Given the description of an element on the screen output the (x, y) to click on. 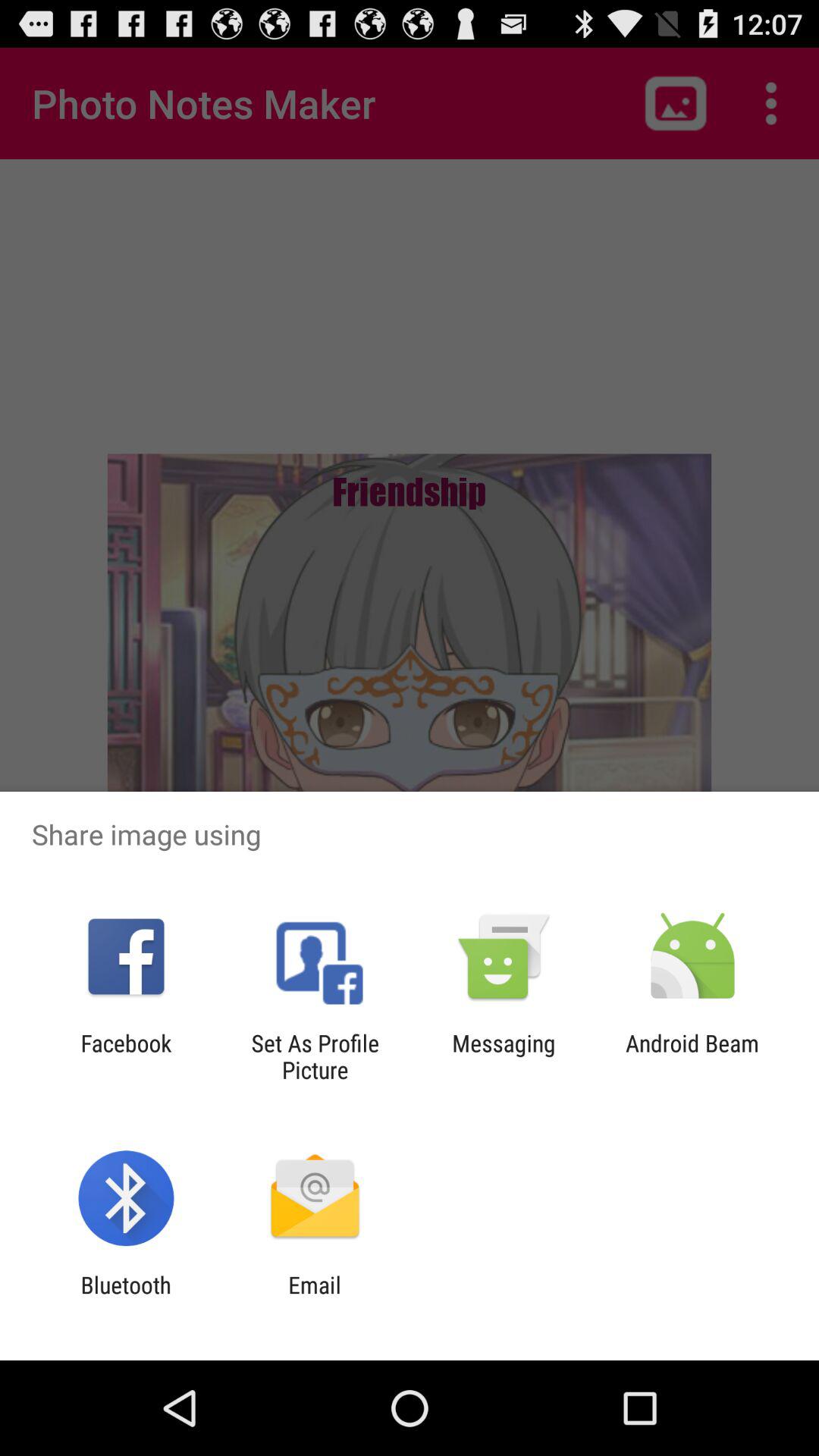
click set as profile (314, 1056)
